Given the description of an element on the screen output the (x, y) to click on. 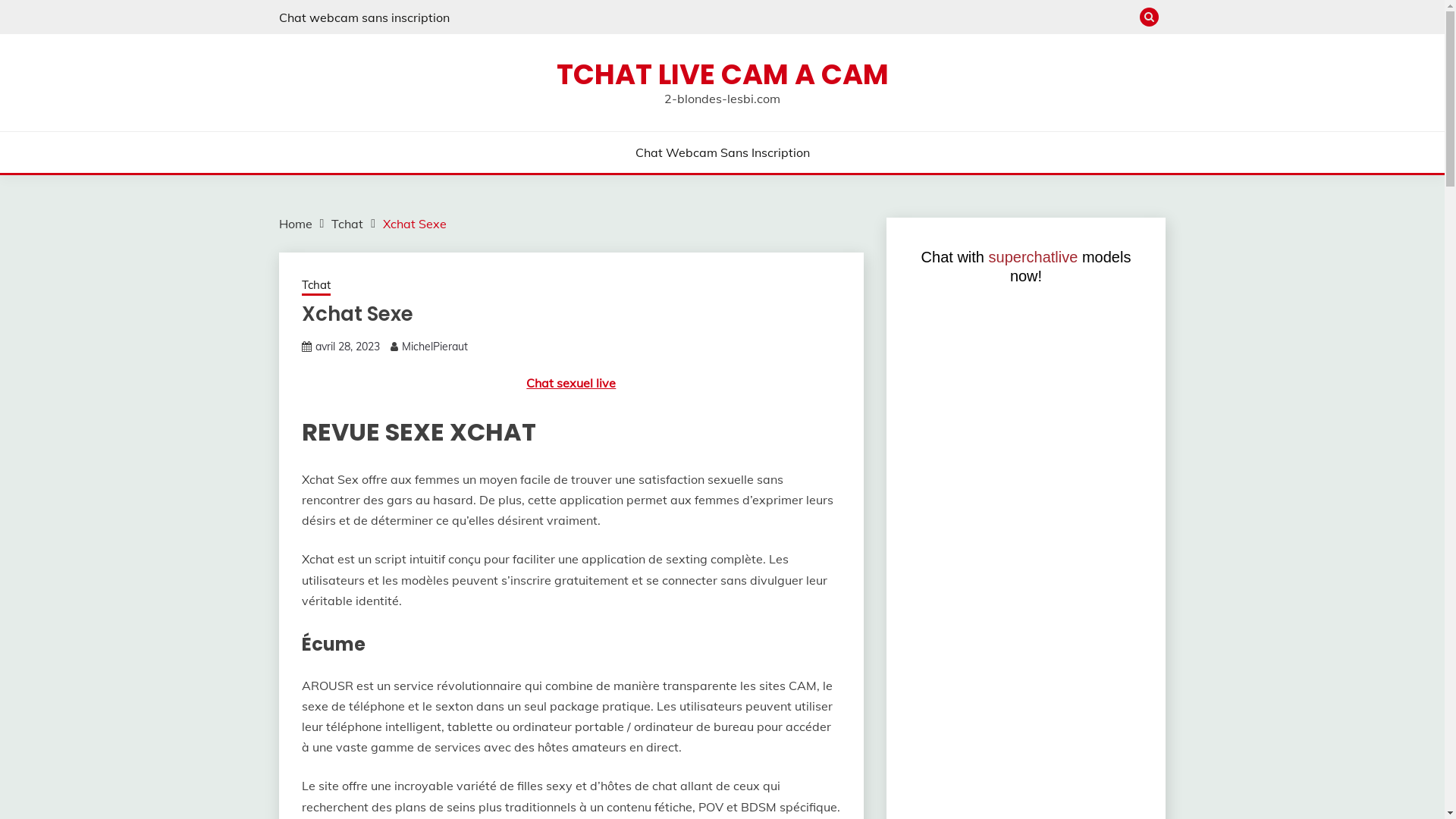
avril 28, 2023 Element type: text (347, 346)
MichelPieraut Element type: text (434, 346)
Chat Webcam Sans Inscription Element type: text (722, 152)
Tchat Element type: text (347, 223)
Chat sexuel live Element type: text (570, 382)
TCHAT LIVE CAM A CAM Element type: text (722, 74)
Tchat Element type: text (315, 286)
Xchat Sexe Element type: text (414, 223)
Rechercher Element type: text (832, 18)
Chat webcam sans inscription Element type: text (364, 16)
Home Element type: text (295, 223)
